Given the description of an element on the screen output the (x, y) to click on. 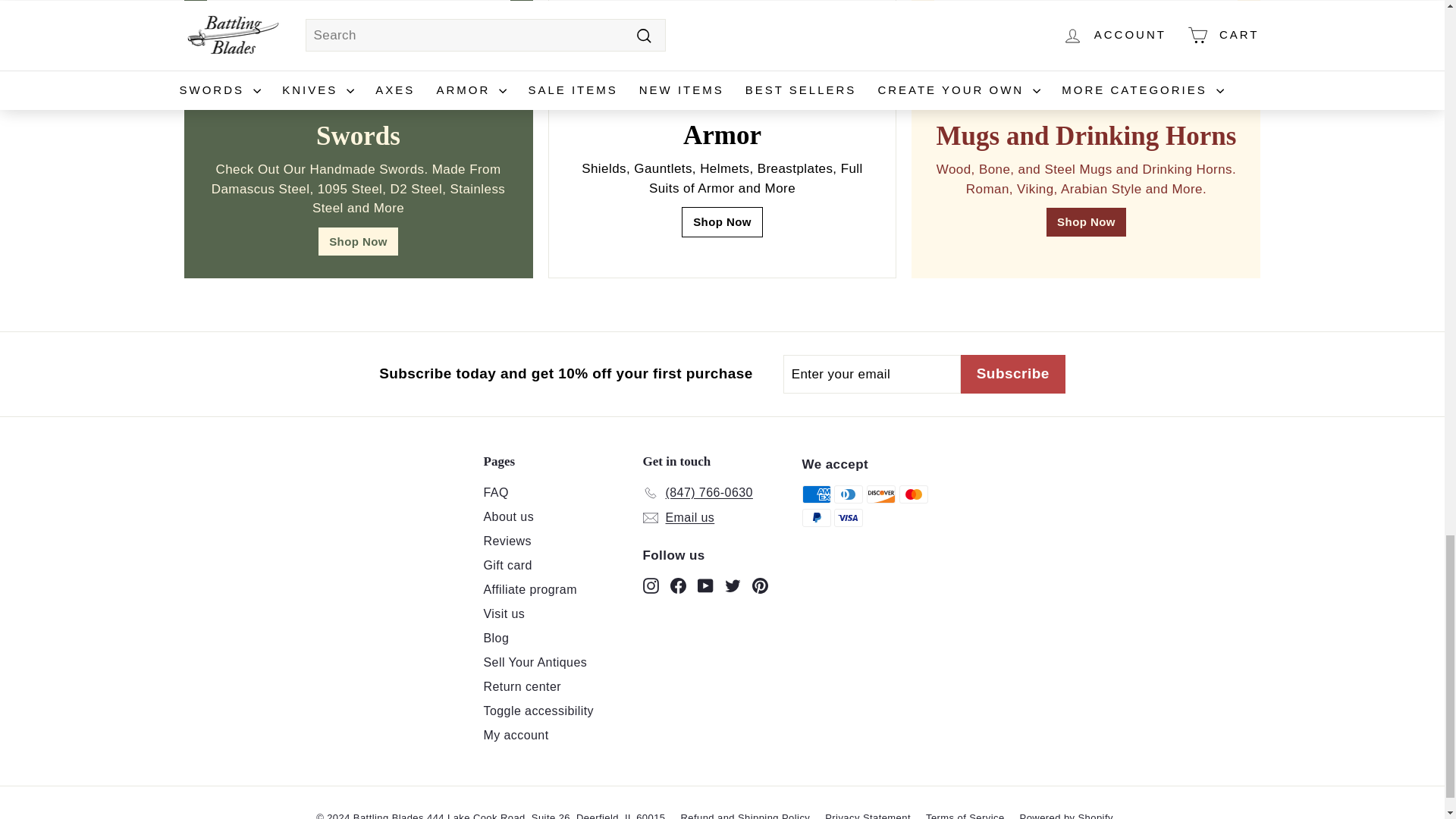
twitter (733, 585)
instagram (651, 585)
American Express (816, 494)
Diners Club (848, 494)
